Given the description of an element on the screen output the (x, y) to click on. 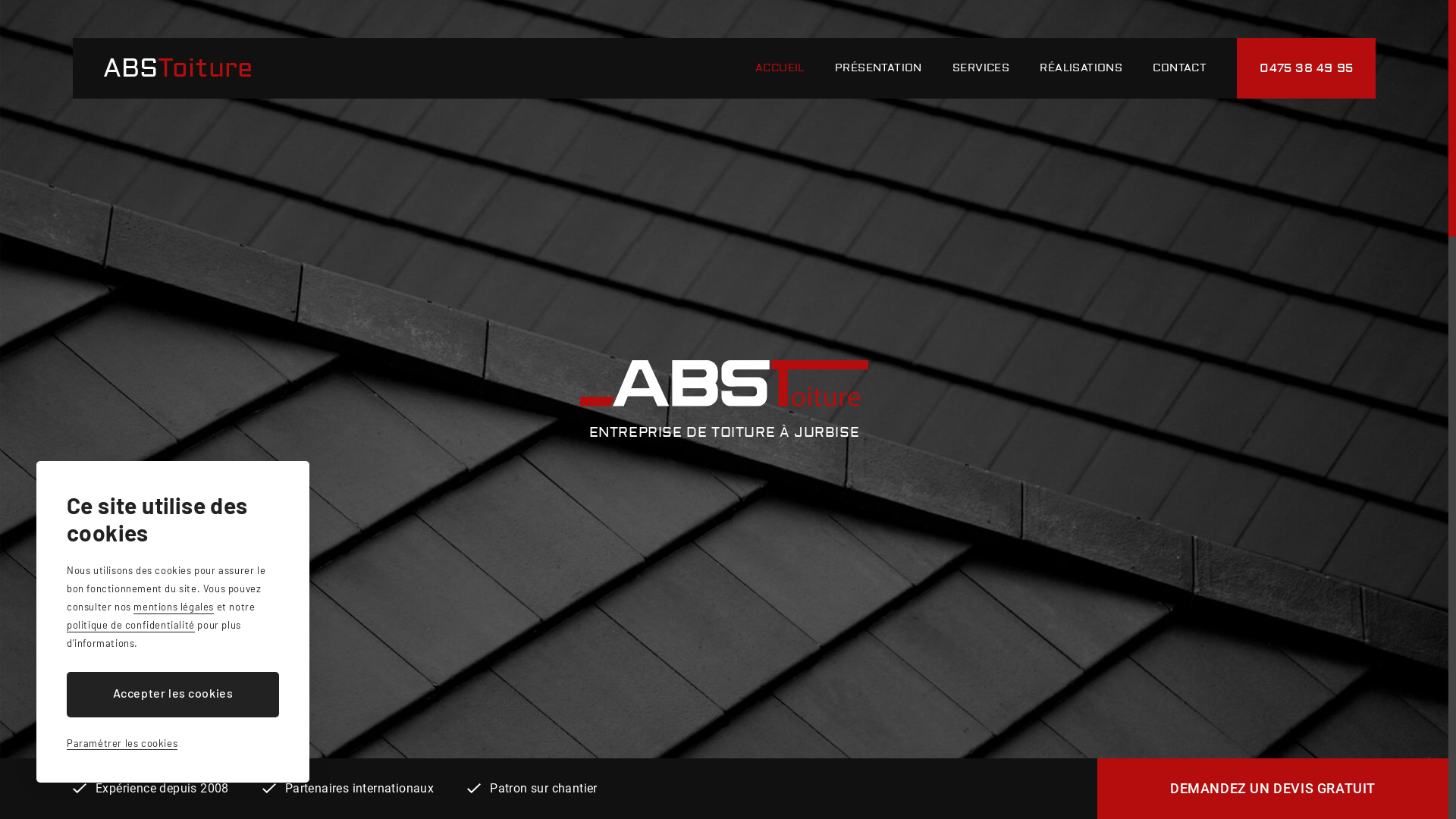
CONTACT Element type: text (1179, 67)
ACCUEIL Element type: text (779, 67)
ABSToiture Element type: text (177, 68)
0475 38 49 95 Element type: text (1305, 67)
SERVICES Element type: text (980, 67)
